Given the description of an element on the screen output the (x, y) to click on. 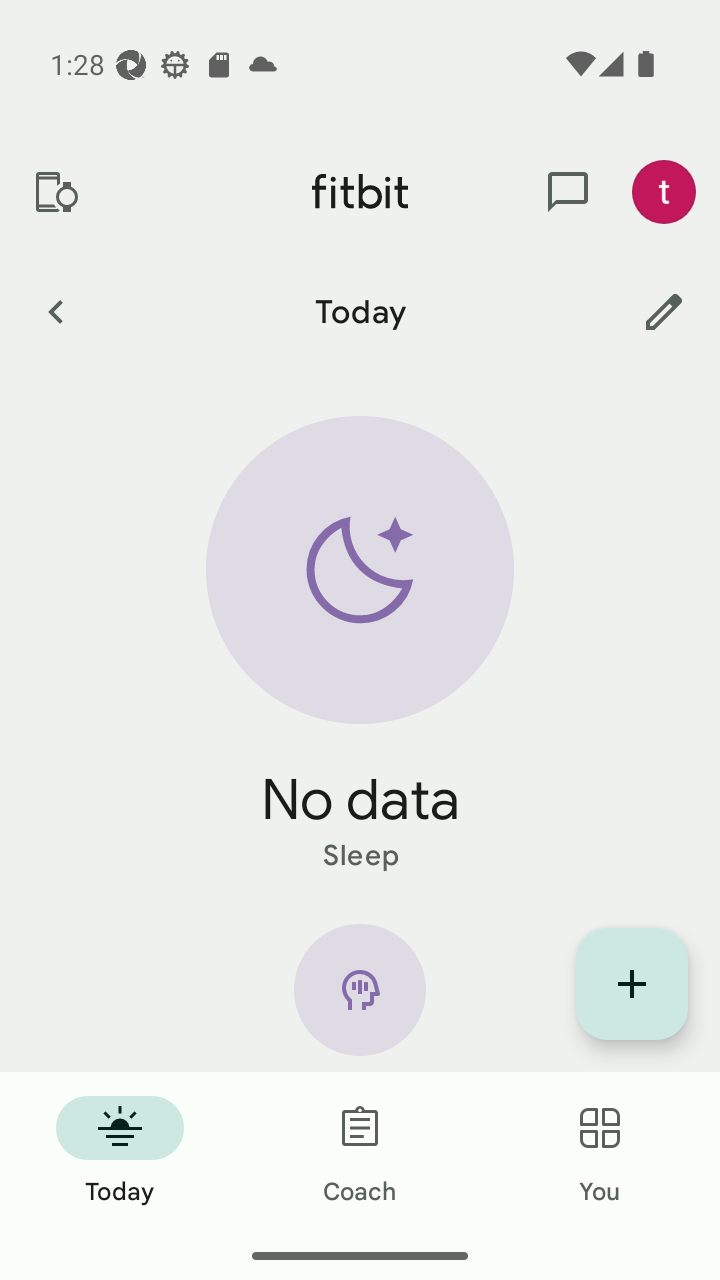
Devices and apps (55, 191)
messages and notifications (567, 191)
Previous Day (55, 311)
Customize (664, 311)
Sleep static hero arc No data Sleep (359, 645)
Mindfulness icon (360, 998)
Display list of quick log entries (632, 983)
Coach (359, 1151)
You (600, 1151)
